Given the description of an element on the screen output the (x, y) to click on. 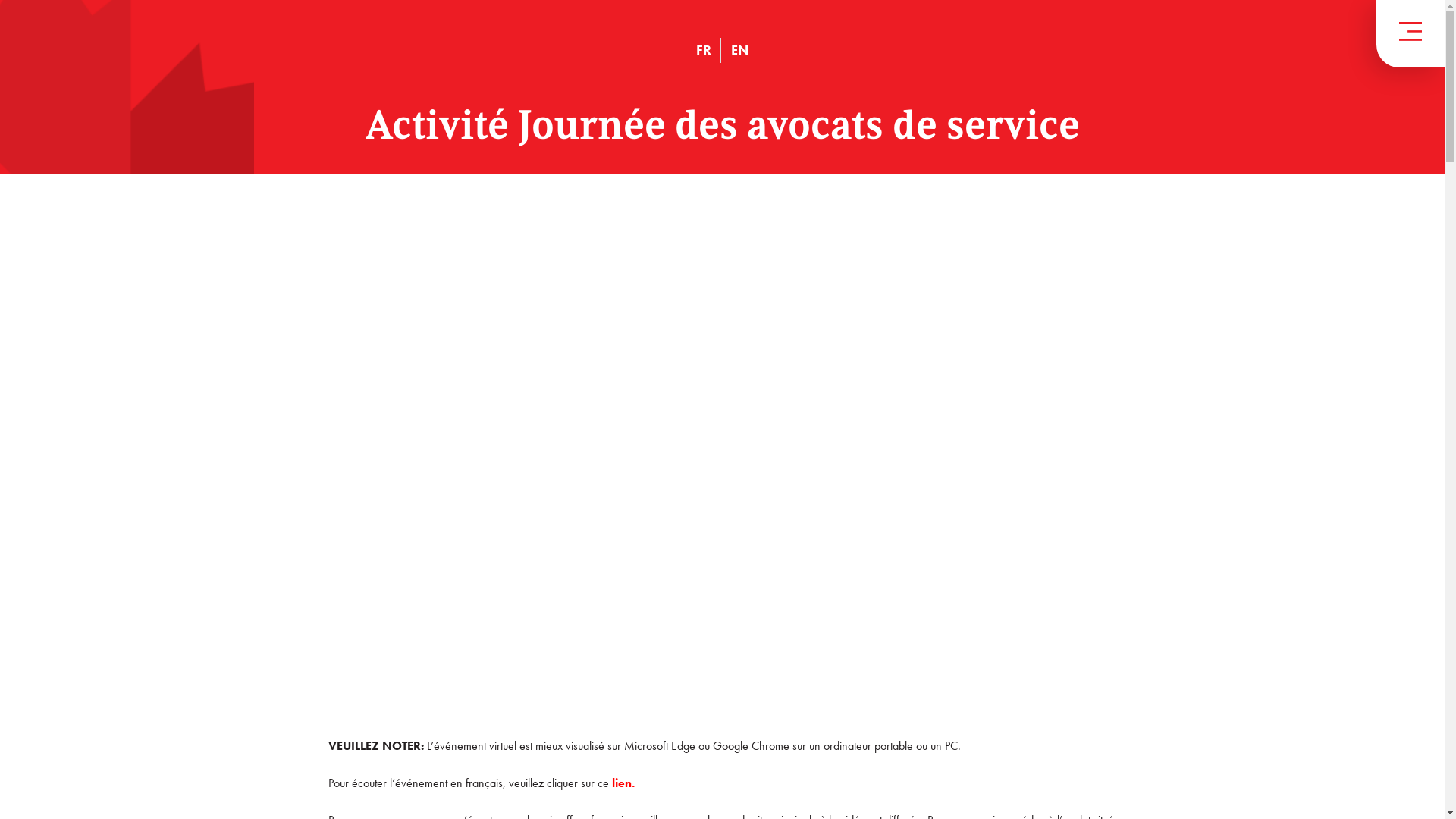
FR Element type: text (703, 49)
lien. Element type: text (622, 782)
EN Element type: text (739, 49)
